Given the description of an element on the screen output the (x, y) to click on. 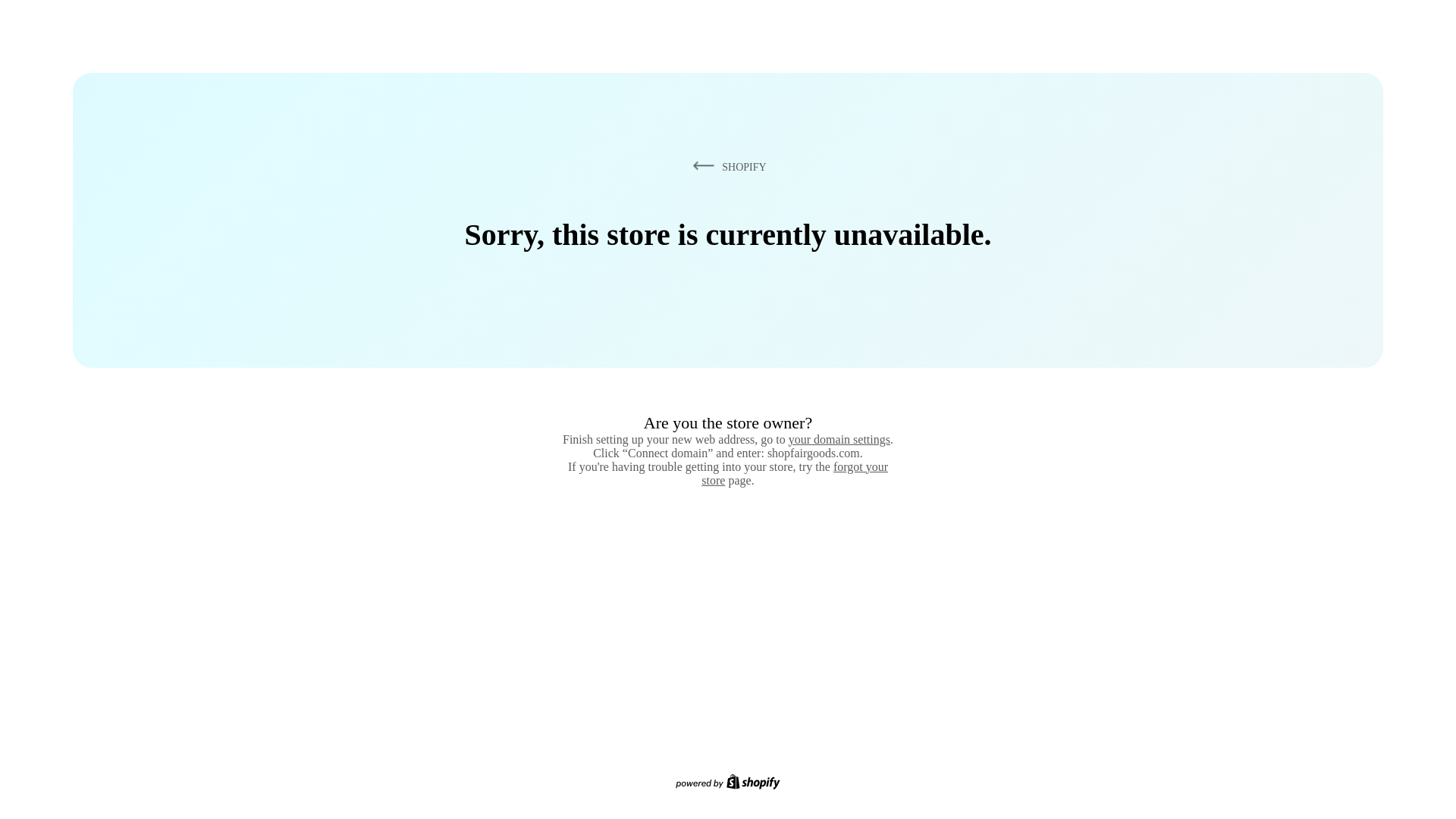
your domain settings (839, 439)
forgot your store (794, 473)
SHOPIFY (726, 166)
